Given the description of an element on the screen output the (x, y) to click on. 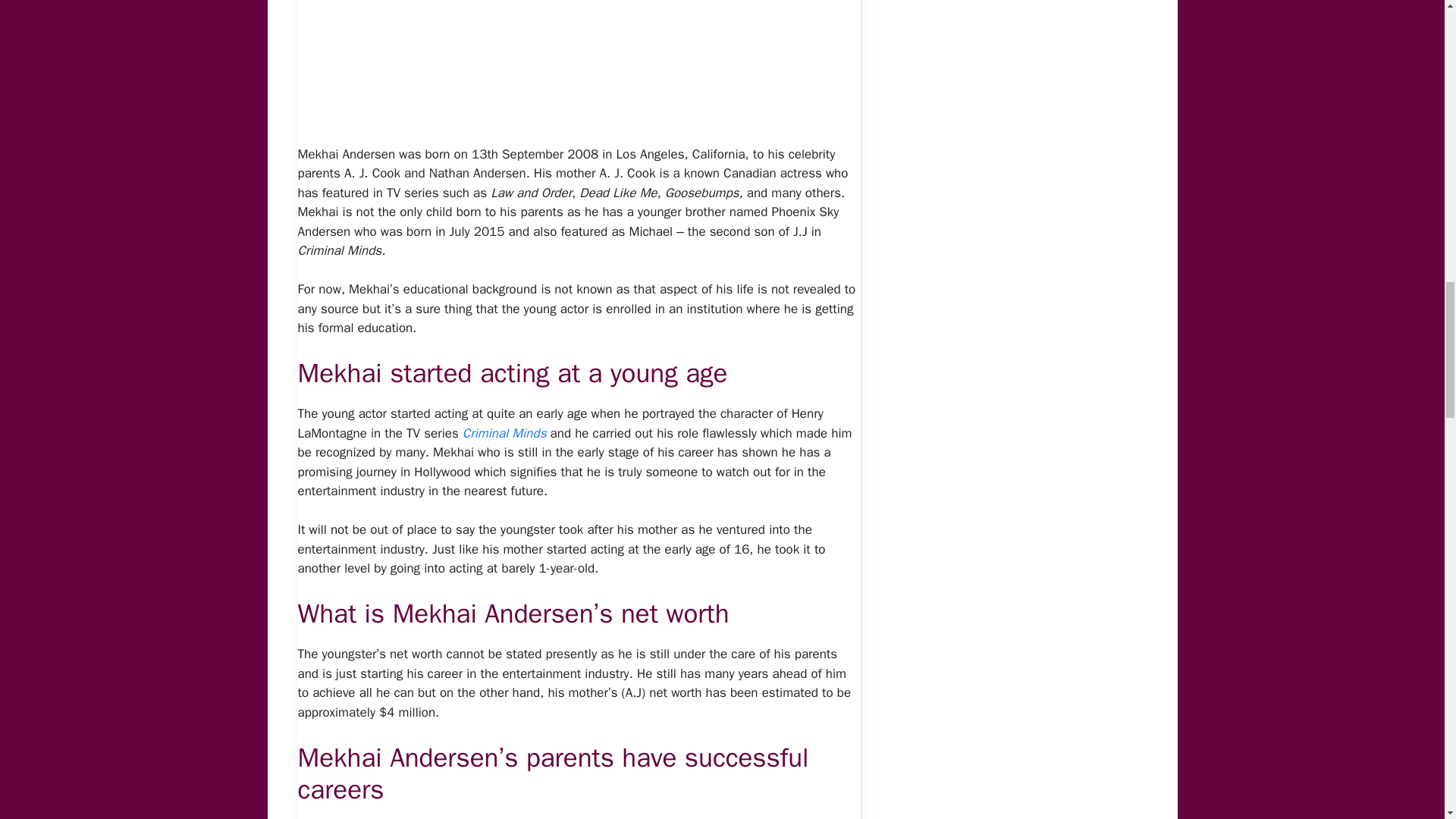
Criminal Minds (505, 433)
